Given the description of an element on the screen output the (x, y) to click on. 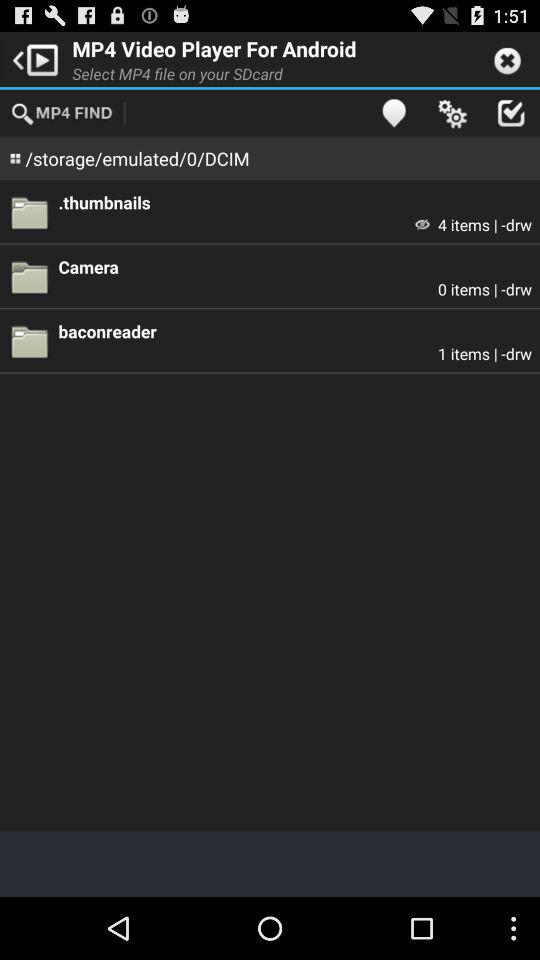
turn on the icon above camera icon (422, 224)
